Given the description of an element on the screen output the (x, y) to click on. 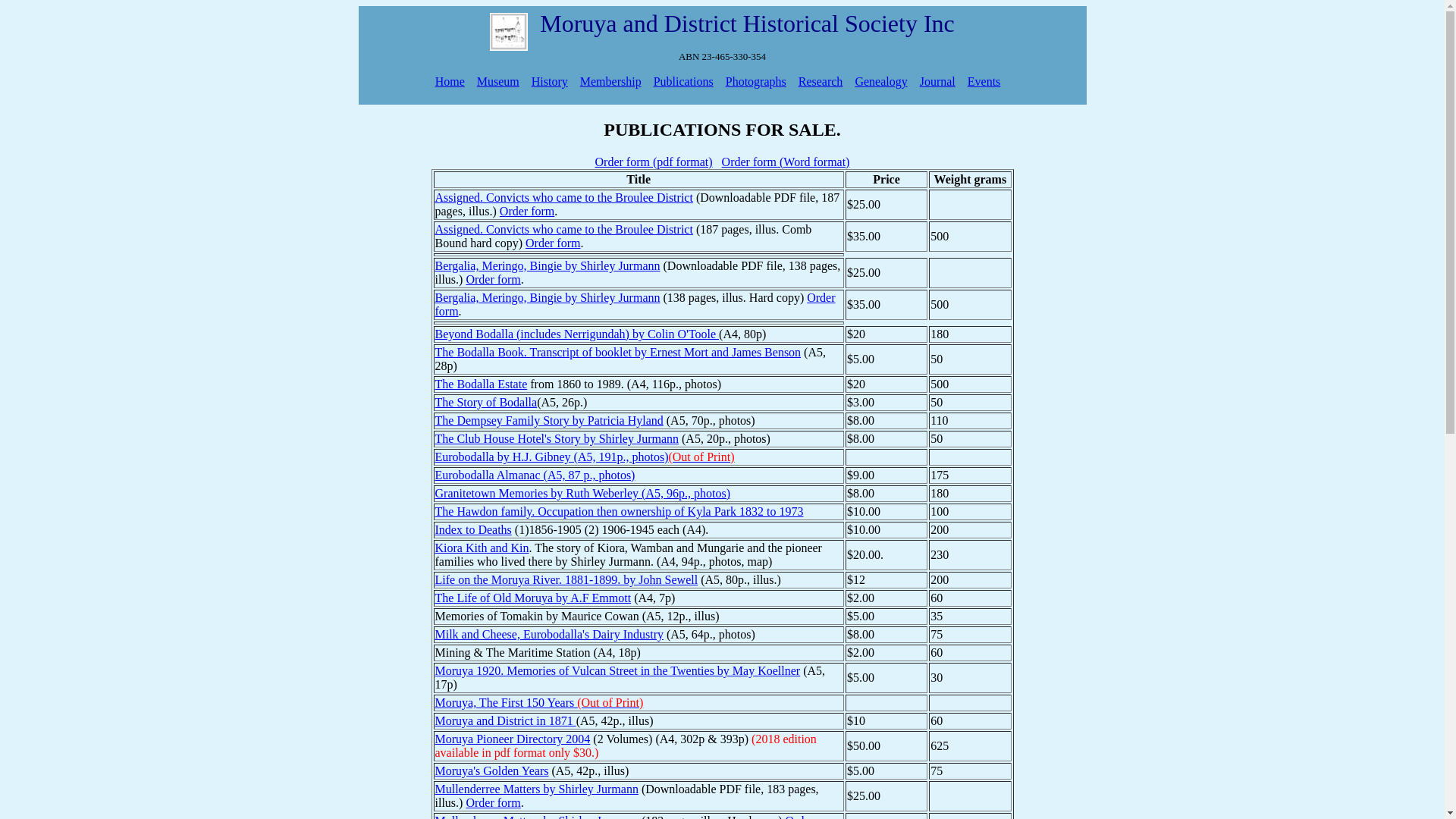
Photographs Element type: text (755, 81)
Order form Element type: text (492, 802)
Bergalia, Meringo, Bingie by Shirley Jurmann Element type: text (547, 297)
Kiora Kith and Kin Element type: text (482, 547)
Eurobodalla by H.J. Gibney (A5, 191p., photos)(Out of Print) Element type: text (584, 456)
Order form (pdf format) Element type: text (653, 161)
Home Element type: text (449, 81)
Order form Element type: text (526, 210)
Order form Element type: text (492, 279)
Order form Element type: text (552, 242)
Moruya, The First 150 Years (Out of Print) Element type: text (539, 702)
Moruya's Golden Years Element type: text (492, 770)
Moruya Pioneer Directory 2004 Element type: text (512, 738)
Eurobodalla Almanac (A5, 87 p., photos) Element type: text (535, 474)
Publications Element type: text (683, 81)
Museum Element type: text (497, 81)
Research Element type: text (820, 81)
The Dempsey Family Story by Patricia Hyland Element type: text (549, 420)
Life on the Moruya River. 1881-1899. by John Sewell Element type: text (566, 579)
Granitetown Memories by Ruth Weberley (A5, 96p., photos) Element type: text (582, 492)
Assigned. Convicts who came to the Broulee District Element type: text (564, 197)
Journal Element type: text (937, 81)
Mullenderree Matters by Shirley Jurmann Element type: text (536, 788)
The Story of Bodalla Element type: text (486, 401)
The Life of Old Moruya by A.F Emmott Element type: text (533, 597)
Order form Element type: text (635, 304)
Moruya and District in 1871 Element type: text (505, 720)
Genealogy Element type: text (880, 81)
The Bodalla Estate Element type: text (481, 383)
Index to Deaths Element type: text (473, 529)
Membership Element type: text (610, 81)
Assigned. Convicts who came to the Broulee District Element type: text (564, 228)
Bergalia, Meringo, Bingie by Shirley Jurmann Element type: text (547, 265)
Milk and Cheese, Eurobodalla's Dairy Industry Element type: text (549, 633)
History Element type: text (549, 81)
Events Element type: text (984, 81)
Order form (Word format) Element type: text (785, 161)
The Club House Hotel's Story by Shirley Jurmann Element type: text (557, 438)
Beyond Bodalla (includes Nerrigundah) by Colin O'Toole Element type: text (577, 333)
